Given the description of an element on the screen output the (x, y) to click on. 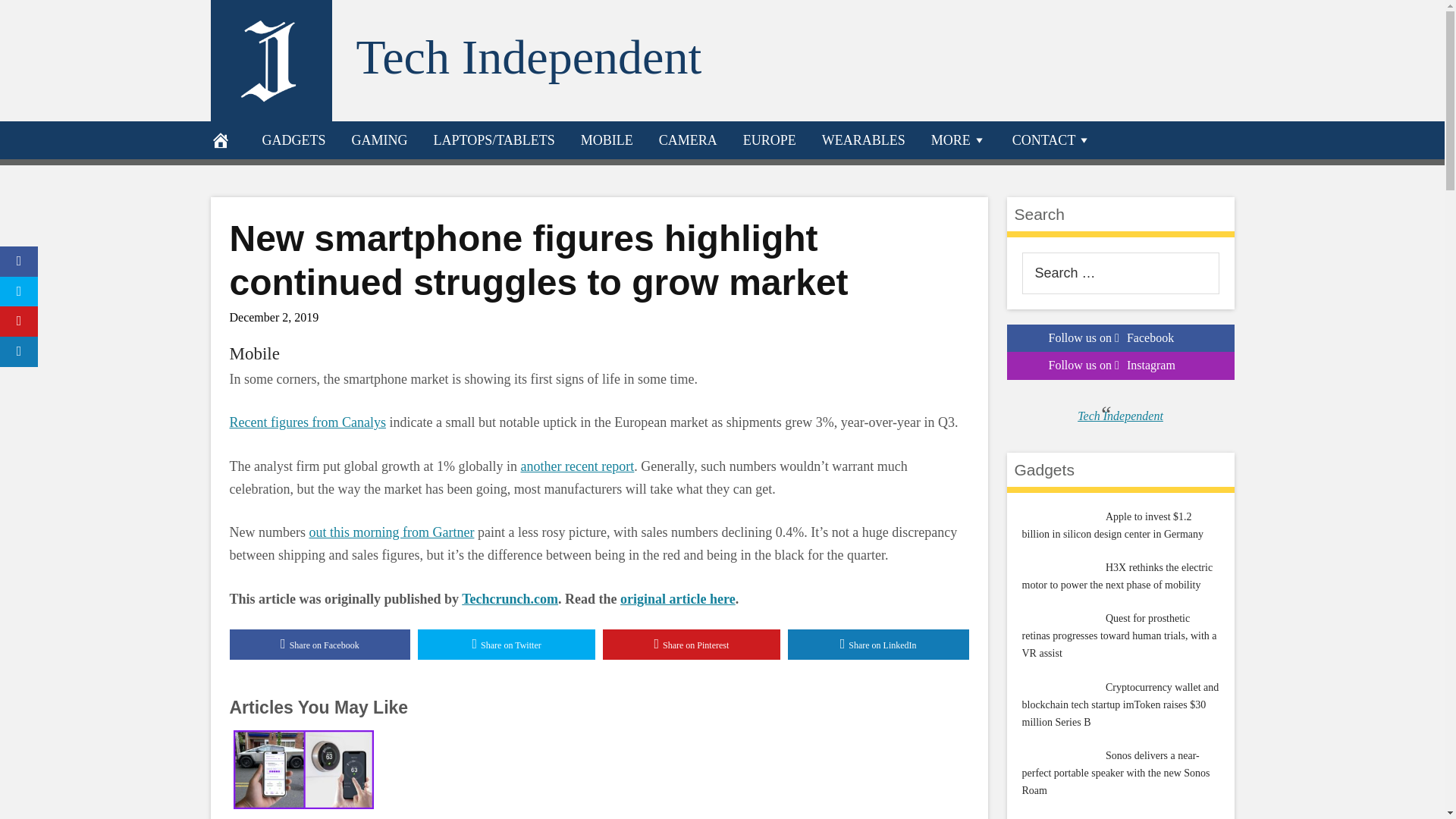
Mobile (253, 353)
MOBILE (606, 139)
GAMING (378, 139)
GADGETS (292, 139)
Tech Independent (528, 57)
MORE (958, 139)
WEARABLES (863, 139)
CAMERA (688, 139)
